Given the description of an element on the screen output the (x, y) to click on. 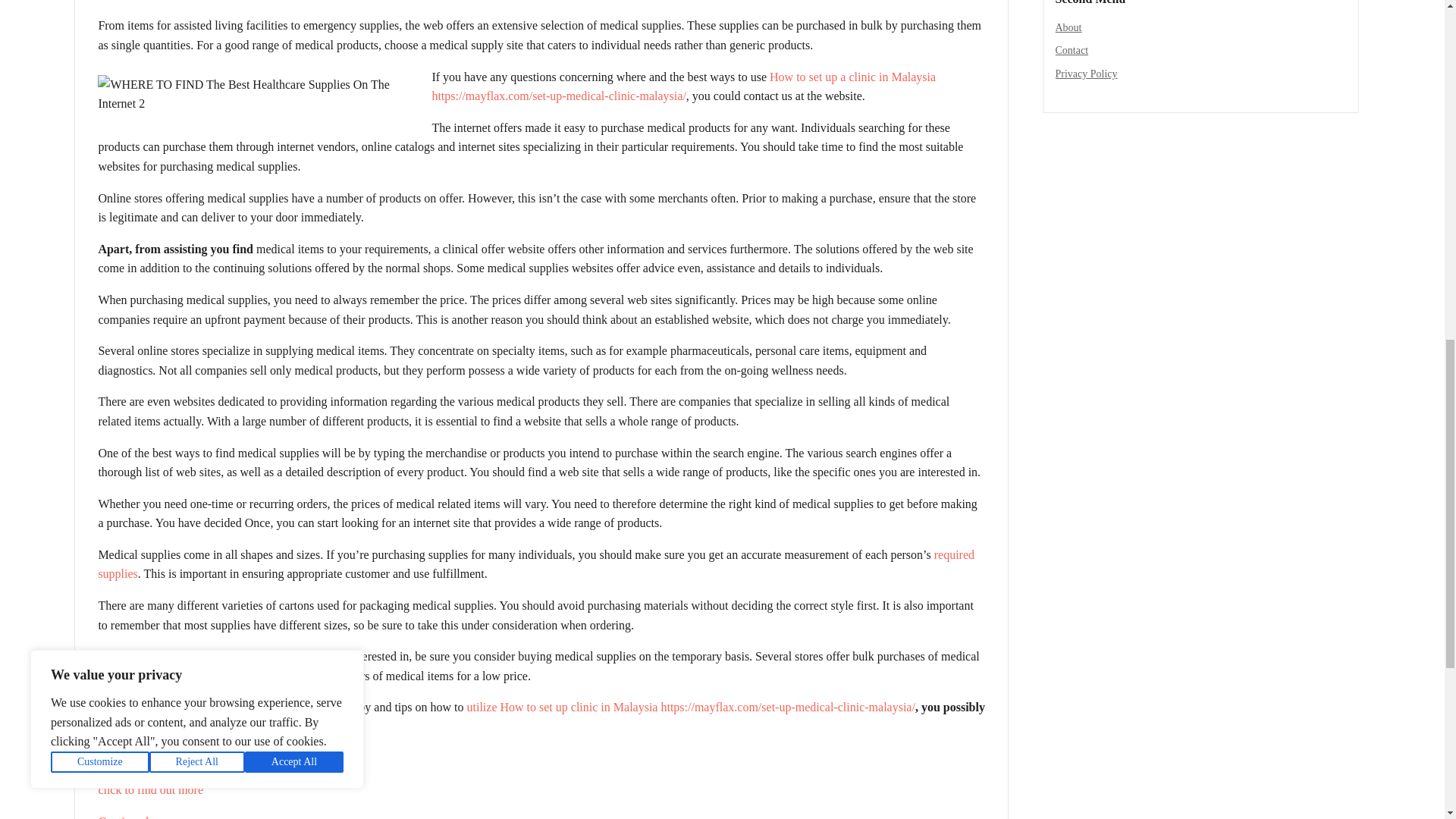
admin (119, 0)
utilize (482, 707)
required supplies (535, 563)
click to find out more (150, 789)
Continued (122, 816)
